Given the description of an element on the screen output the (x, y) to click on. 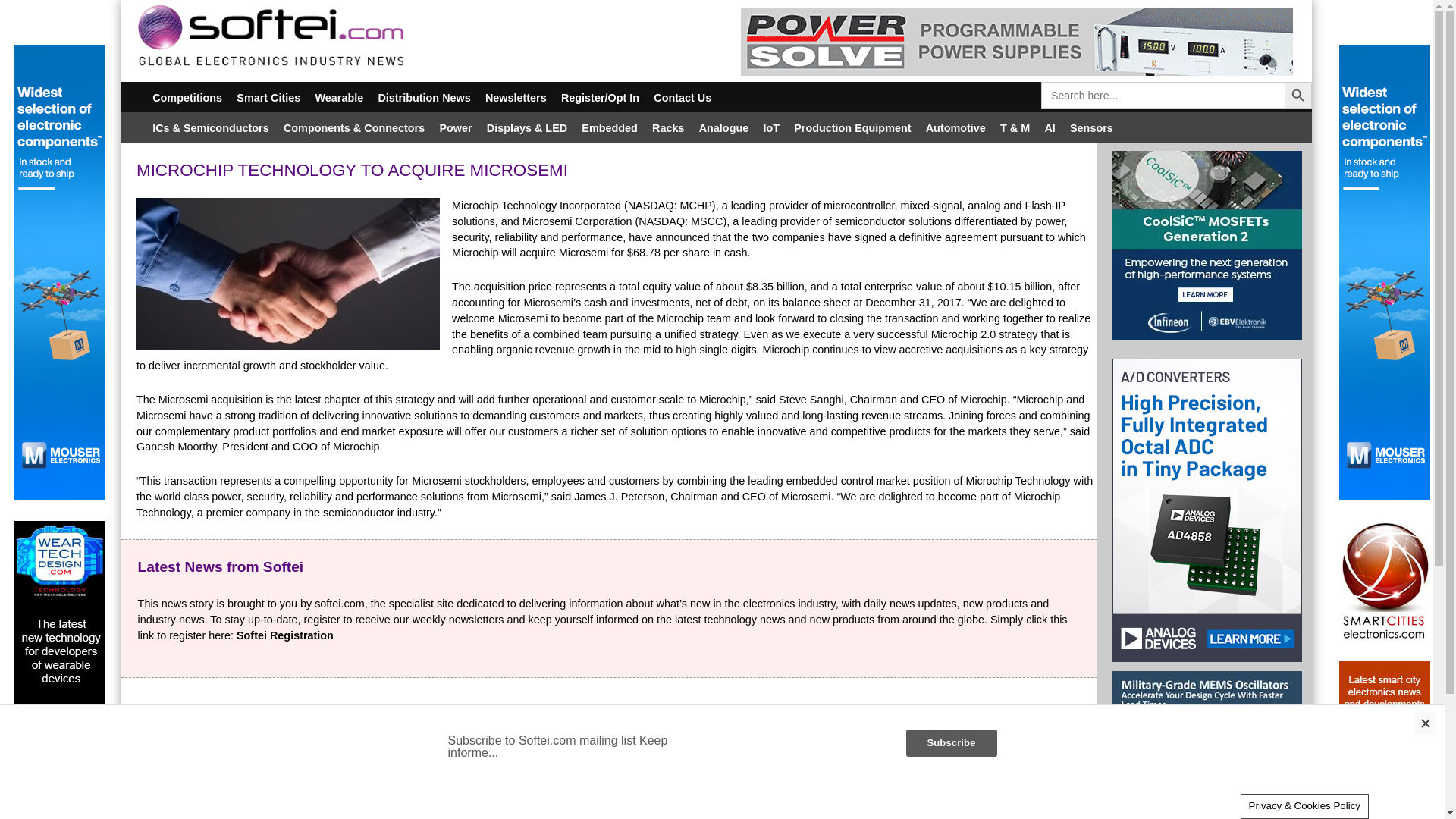
Embedded (610, 127)
Racks (668, 127)
IoT (771, 127)
Analogue (723, 127)
Newsletters (515, 96)
Search Button (1297, 94)
Softei Registration (284, 635)
Wearable (339, 96)
Contact Us (682, 96)
Sensors (1090, 127)
Production Equipment (852, 127)
Distribution News (425, 96)
Smart Cities (268, 96)
Competitions (187, 96)
Power (455, 127)
